Given the description of an element on the screen output the (x, y) to click on. 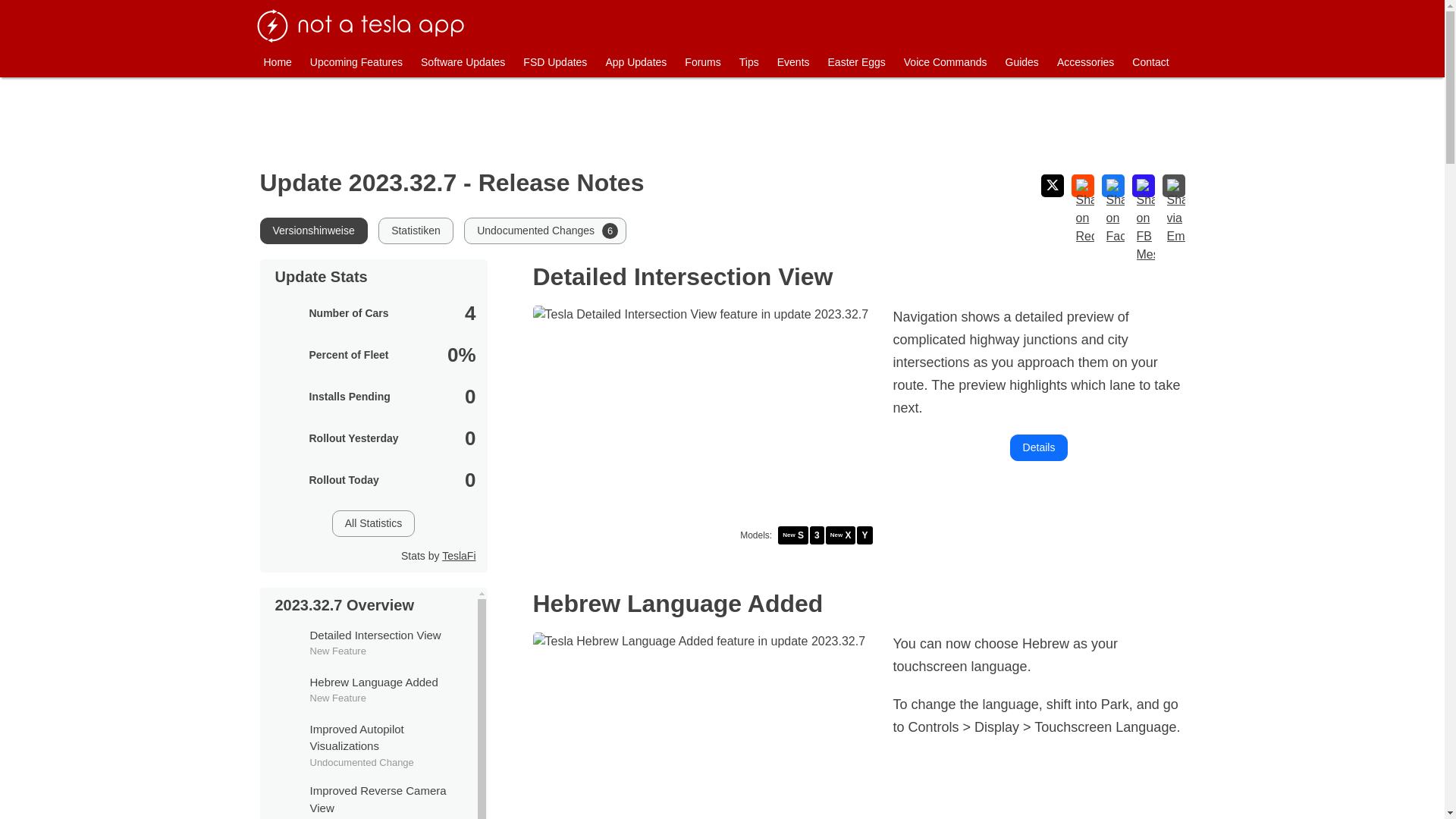
Events (793, 62)
TeslaFi (459, 555)
Home (277, 62)
Accessories (1085, 62)
FSD Updates (367, 689)
Software Updates (367, 798)
Upcoming Features (554, 62)
Update 2023.32.7 - Release Notes (462, 62)
Easter Eggs (356, 62)
Tips (545, 230)
Statistiken (451, 182)
All Statistics (857, 62)
